Given the description of an element on the screen output the (x, y) to click on. 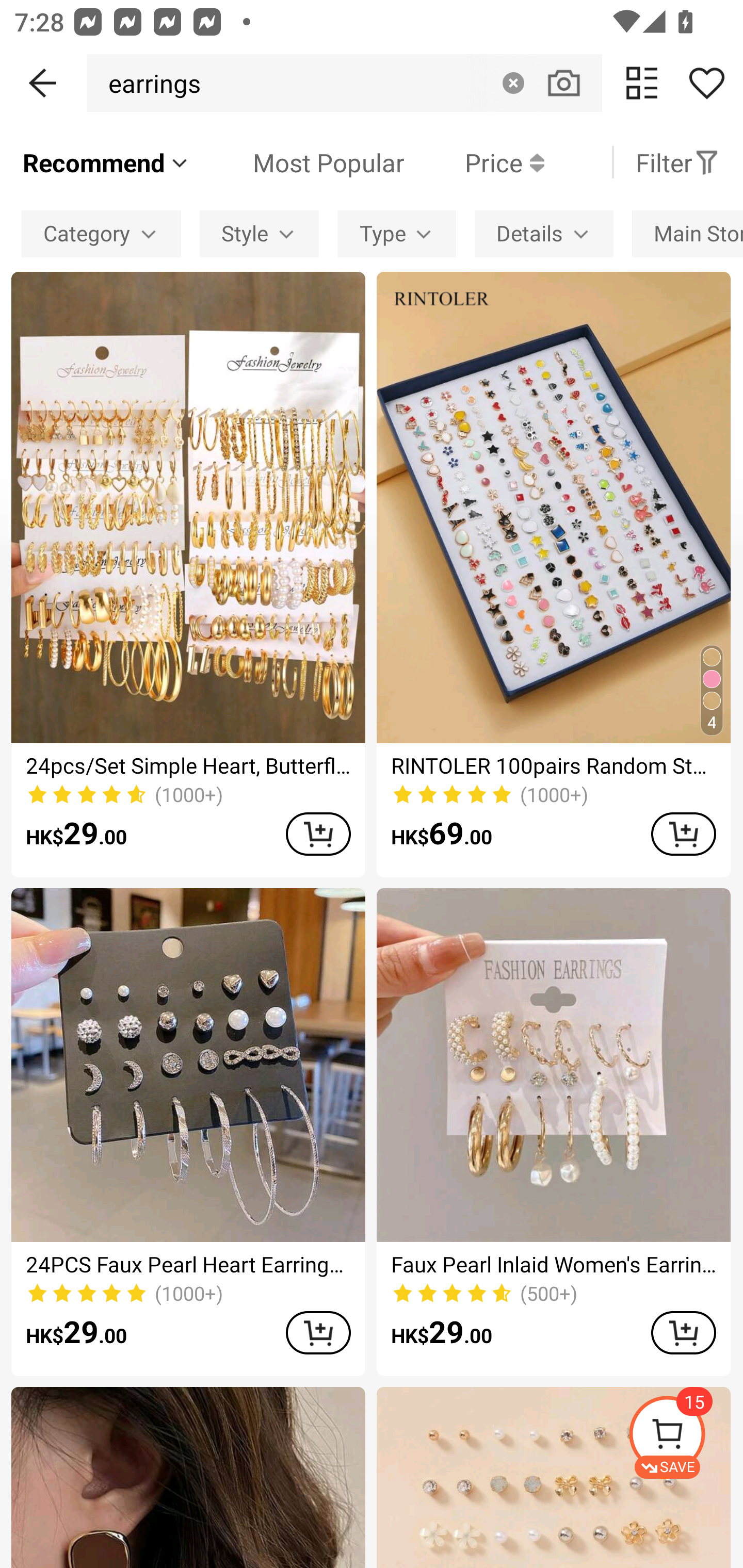
earrings Clear (343, 82)
earrings (148, 82)
Clear (513, 82)
change view (641, 82)
Share (706, 82)
Recommend (106, 162)
Most Popular (297, 162)
Price (474, 162)
Filter (677, 162)
Category (101, 233)
Style (258, 233)
Type (396, 233)
Details (543, 233)
Main Stone (687, 233)
ADD TO CART (318, 834)
ADD TO CART (683, 834)
ADD TO CART (318, 1332)
ADD TO CART (683, 1332)
SAVE (685, 1436)
